Given the description of an element on the screen output the (x, y) to click on. 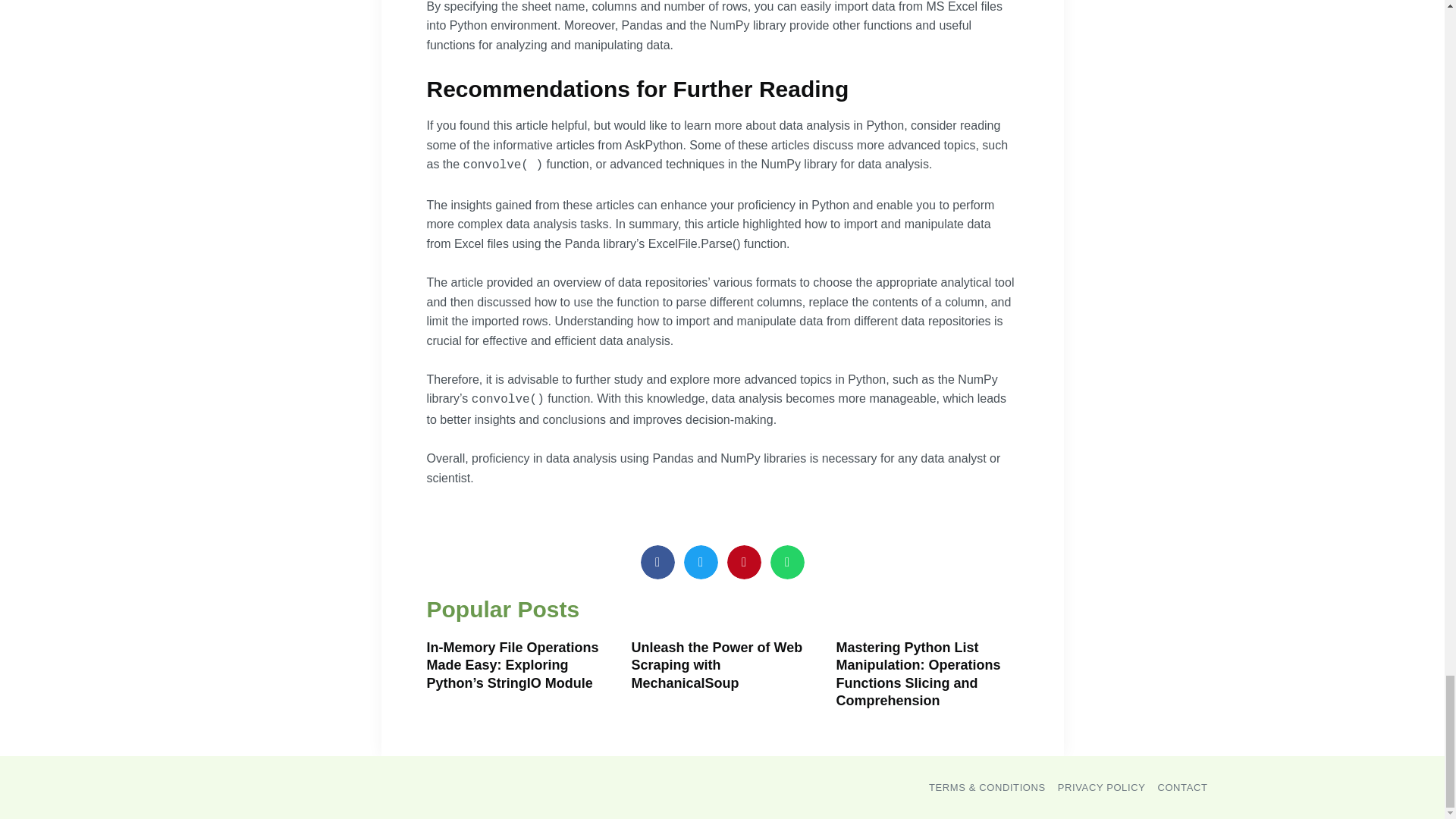
Unleash the Power of Web Scraping with MechanicalSoup (716, 665)
CONTACT (1182, 787)
PRIVACY POLICY (1101, 787)
